Given the description of an element on the screen output the (x, y) to click on. 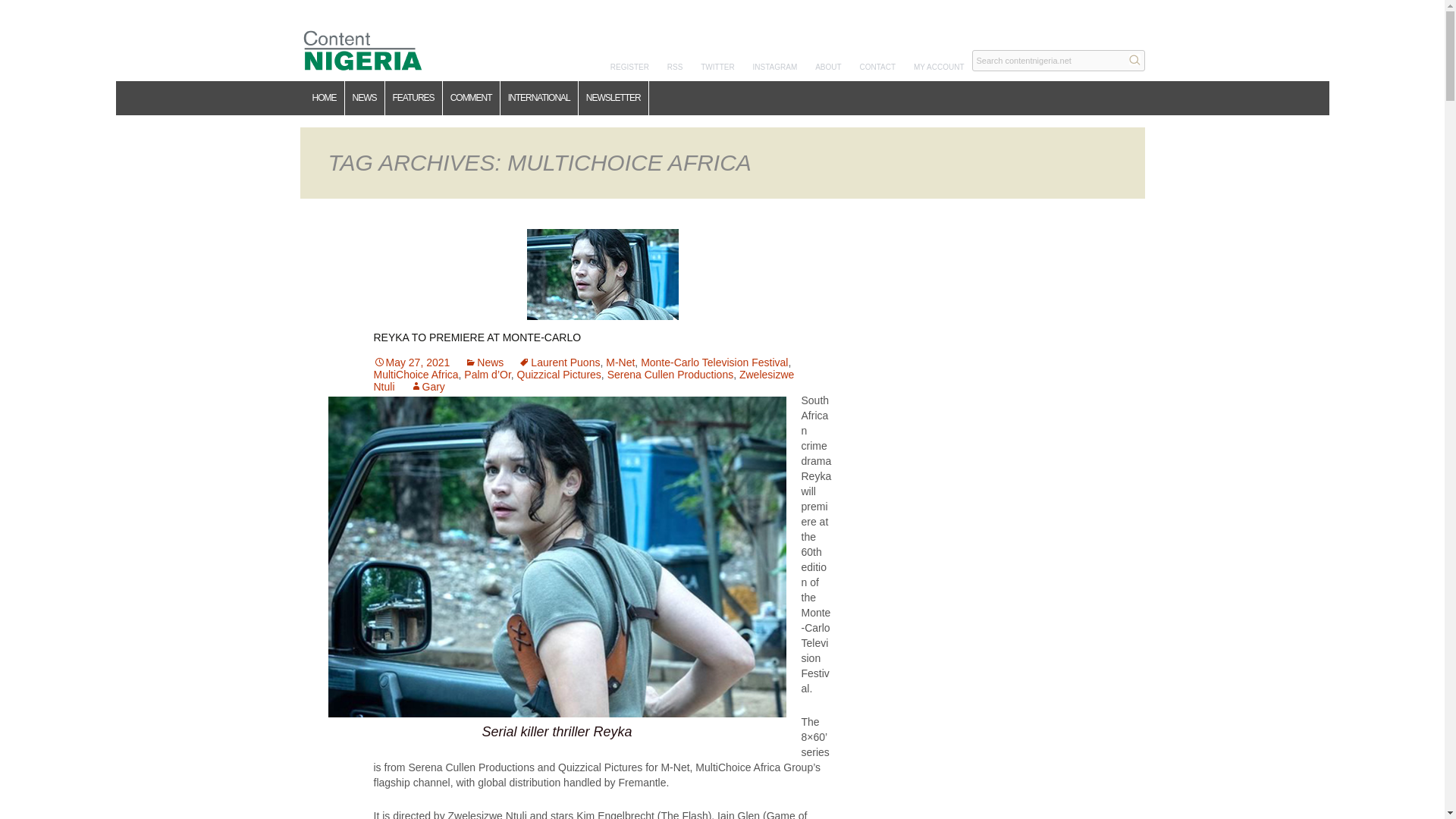
COMMENT (471, 98)
RSS (674, 67)
REYKA TO PREMIERE AT MONTE-CARLO (476, 337)
Search (1134, 59)
Permalink to Reyka to premiere at Monte-Carlo (410, 362)
NEWSLETTER (613, 98)
Search (1134, 59)
CONTACT (877, 67)
View all posts by Gary (427, 386)
Zwelesizwe Ntuli (582, 380)
